Given the description of an element on the screen output the (x, y) to click on. 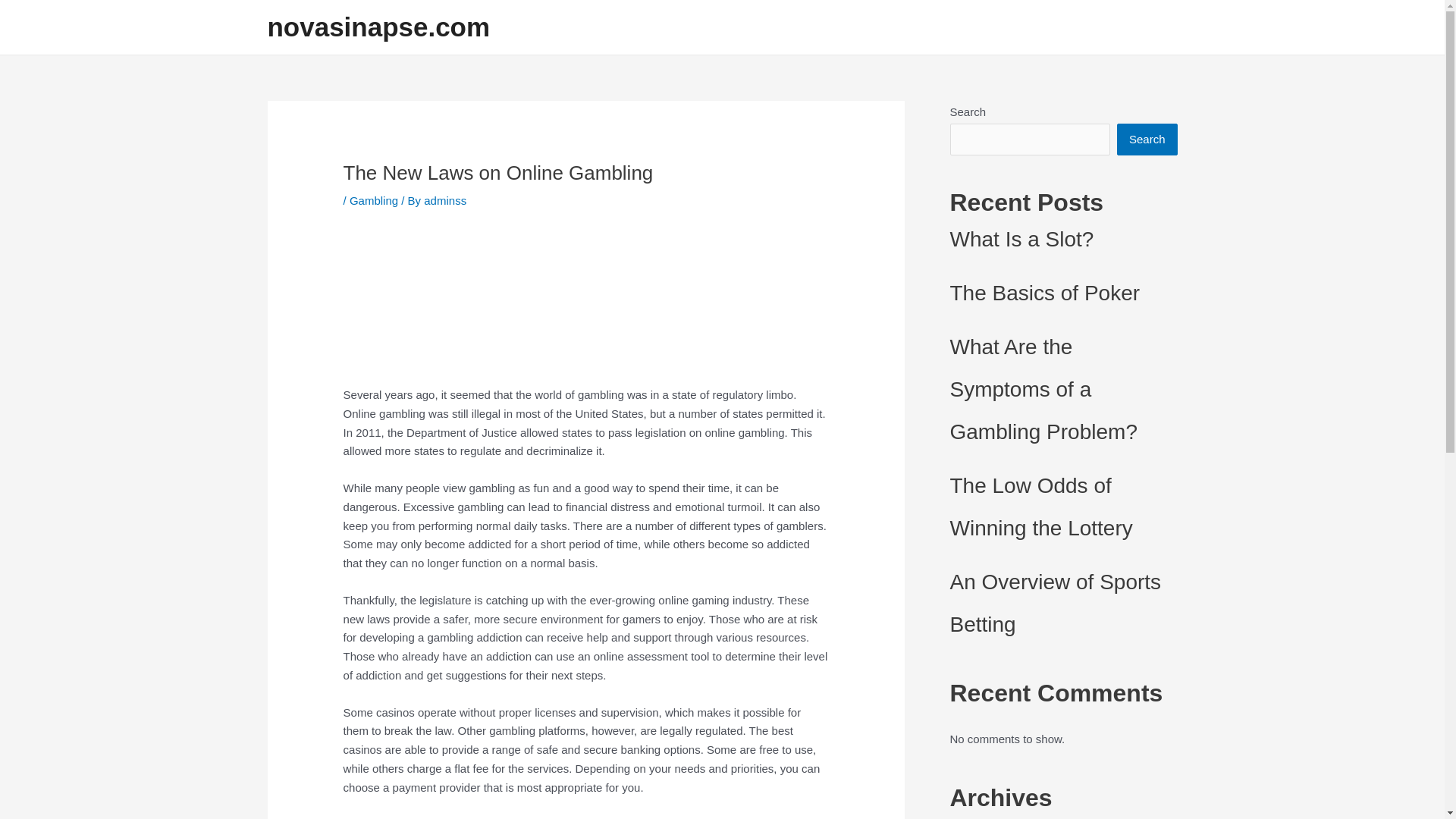
Search (1146, 139)
What Are the Symptoms of a Gambling Problem? (1043, 388)
Gambling (373, 200)
An Overview of Sports Betting (1054, 603)
novasinapse.com (377, 26)
adminss (444, 200)
July 2023 (973, 818)
View all posts by adminss (444, 200)
The Low Odds of Winning the Lottery (1040, 506)
What Is a Slot? (1021, 238)
The Basics of Poker (1044, 292)
